Given the description of an element on the screen output the (x, y) to click on. 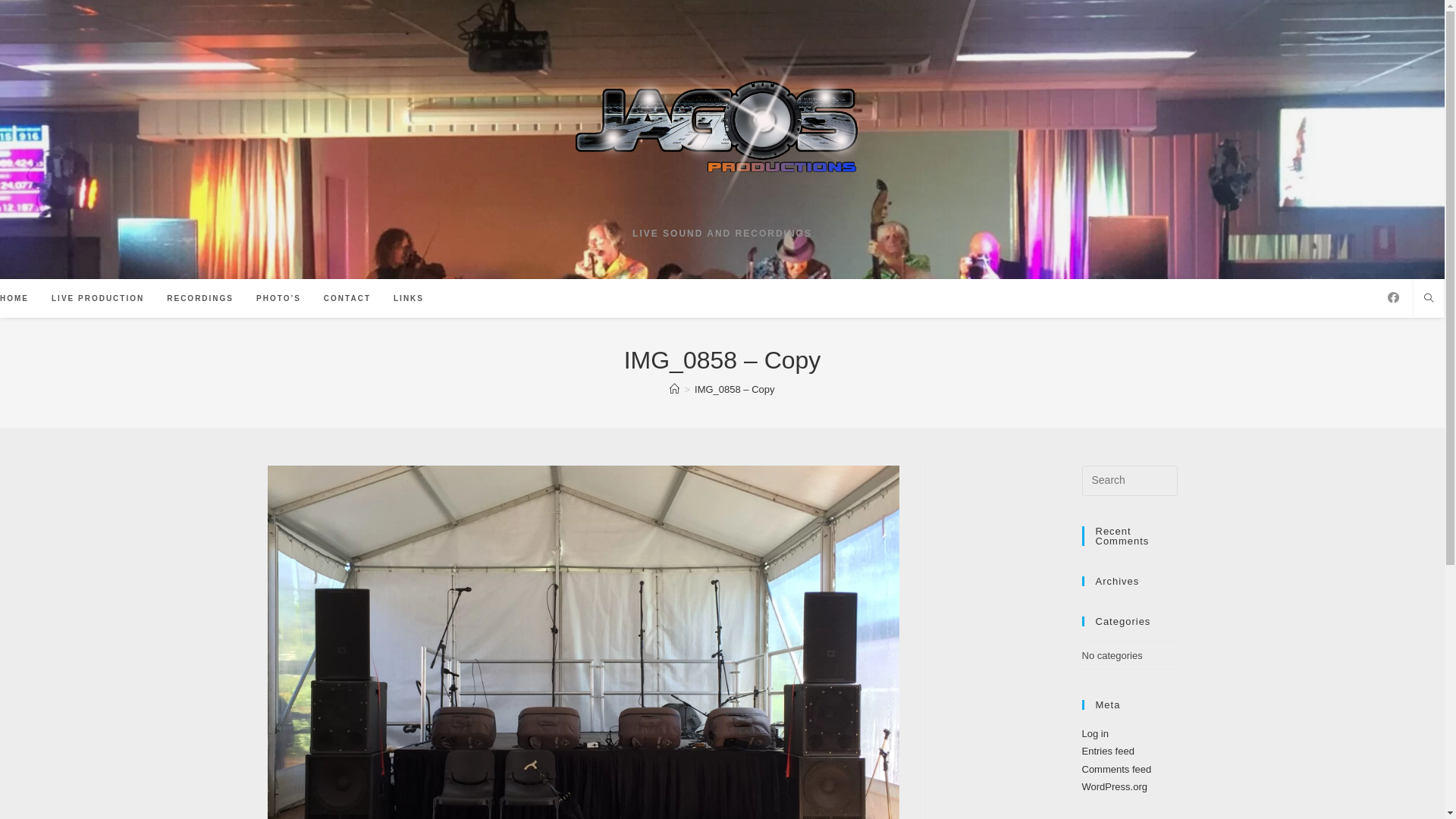
WordPress.org Element type: text (1113, 786)
LINKS Element type: text (408, 298)
Comments feed Element type: text (1116, 769)
RECORDINGS Element type: text (199, 298)
CONTACT Element type: text (347, 298)
Entries feed Element type: text (1107, 750)
LIVE PRODUCTION Element type: text (97, 298)
Log in Element type: text (1094, 733)
